Given the description of an element on the screen output the (x, y) to click on. 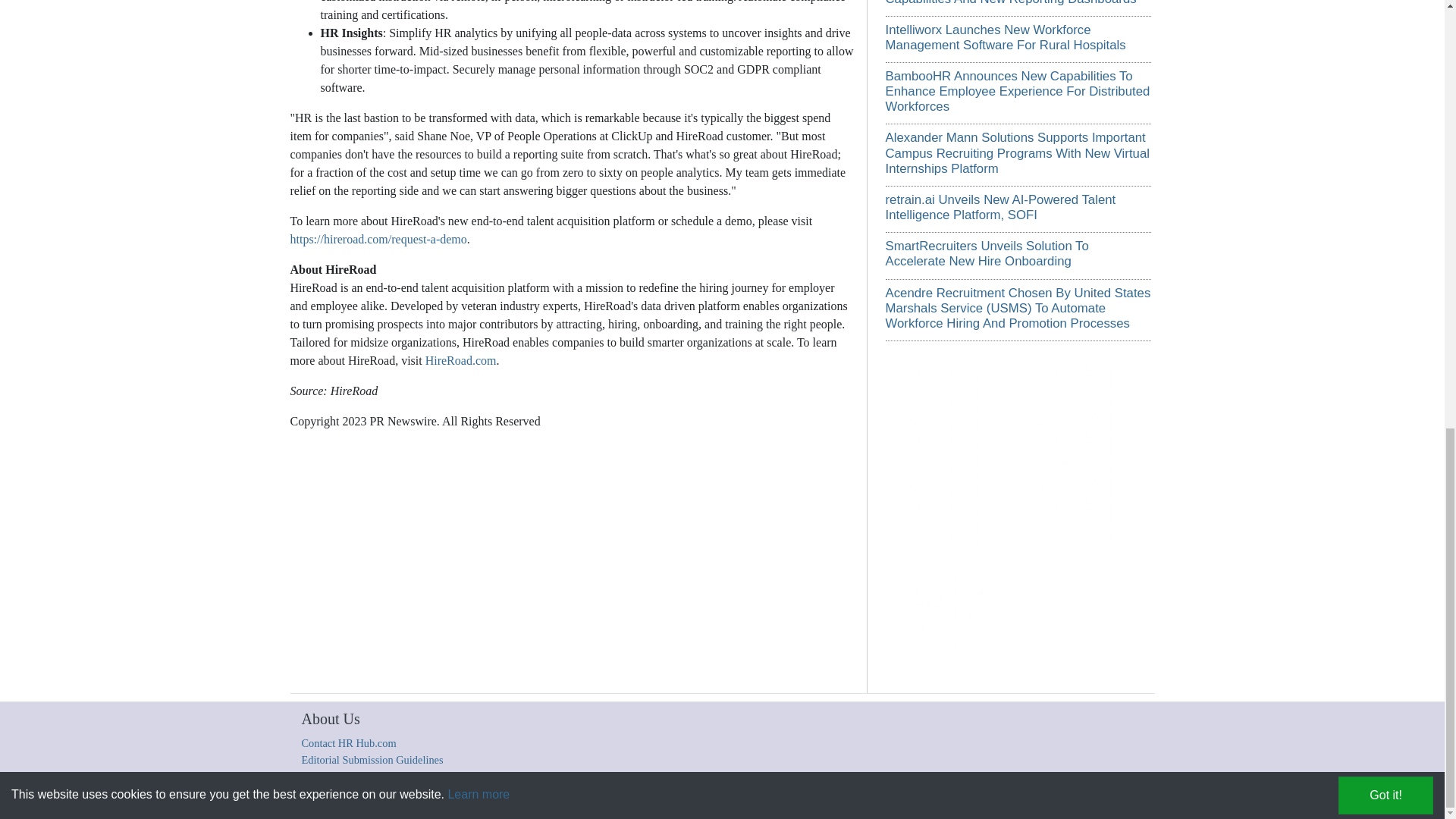
Editorial Submission Guidelines (372, 759)
VertMarkets, Inc. (561, 798)
3rd party ad content (1018, 454)
Terms of Use (704, 798)
Privacy Statement (770, 798)
Don't sell my information (960, 798)
Contact HR Hub.com (348, 743)
